Given the description of an element on the screen output the (x, y) to click on. 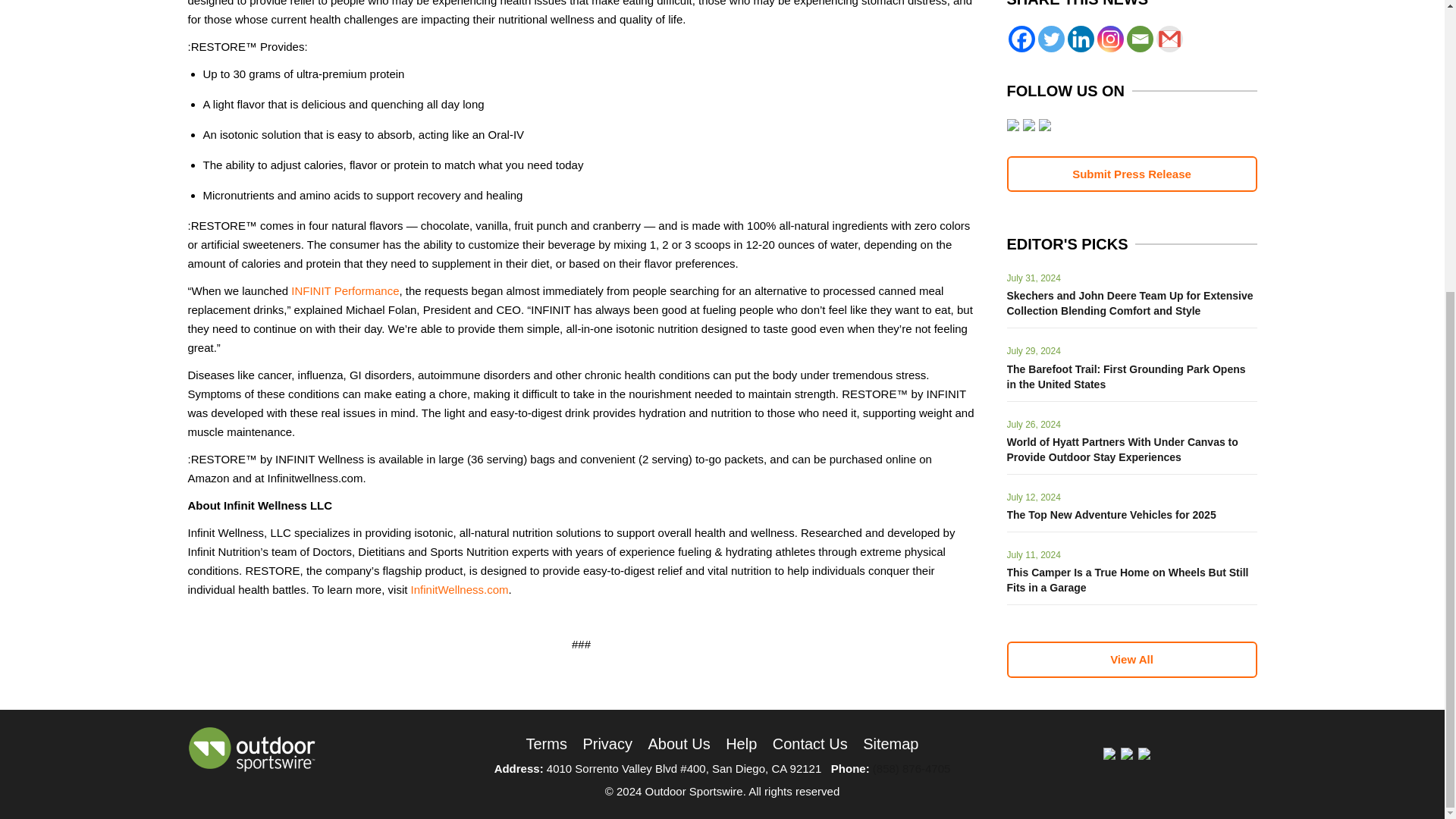
Google Gmail (1169, 38)
Facebook (1022, 38)
Linkedin (1080, 38)
Instagram (1109, 38)
Twitter (1050, 38)
Email (1139, 38)
